Given the description of an element on the screen output the (x, y) to click on. 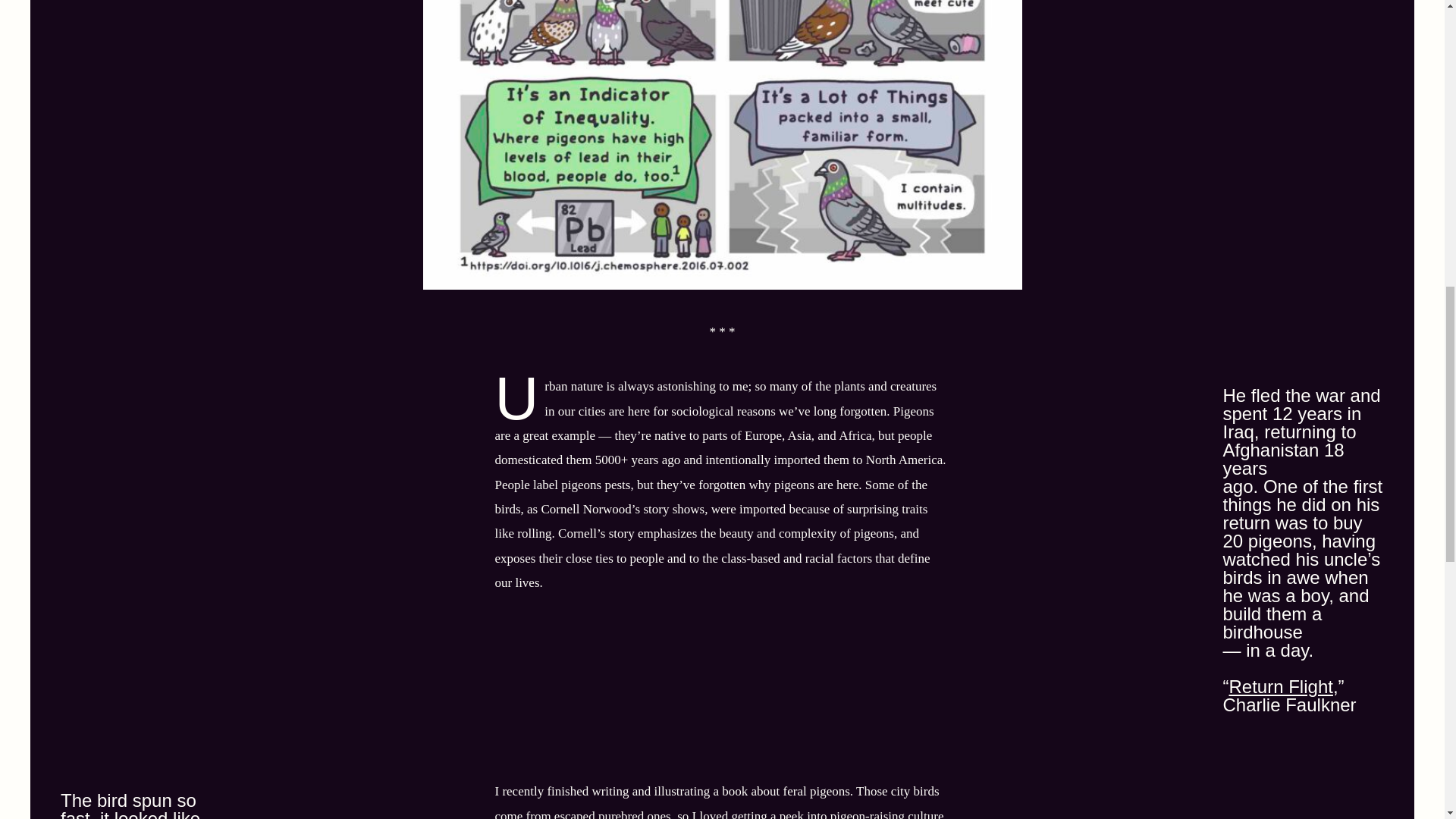
Return Flight (1280, 686)
